Given the description of an element on the screen output the (x, y) to click on. 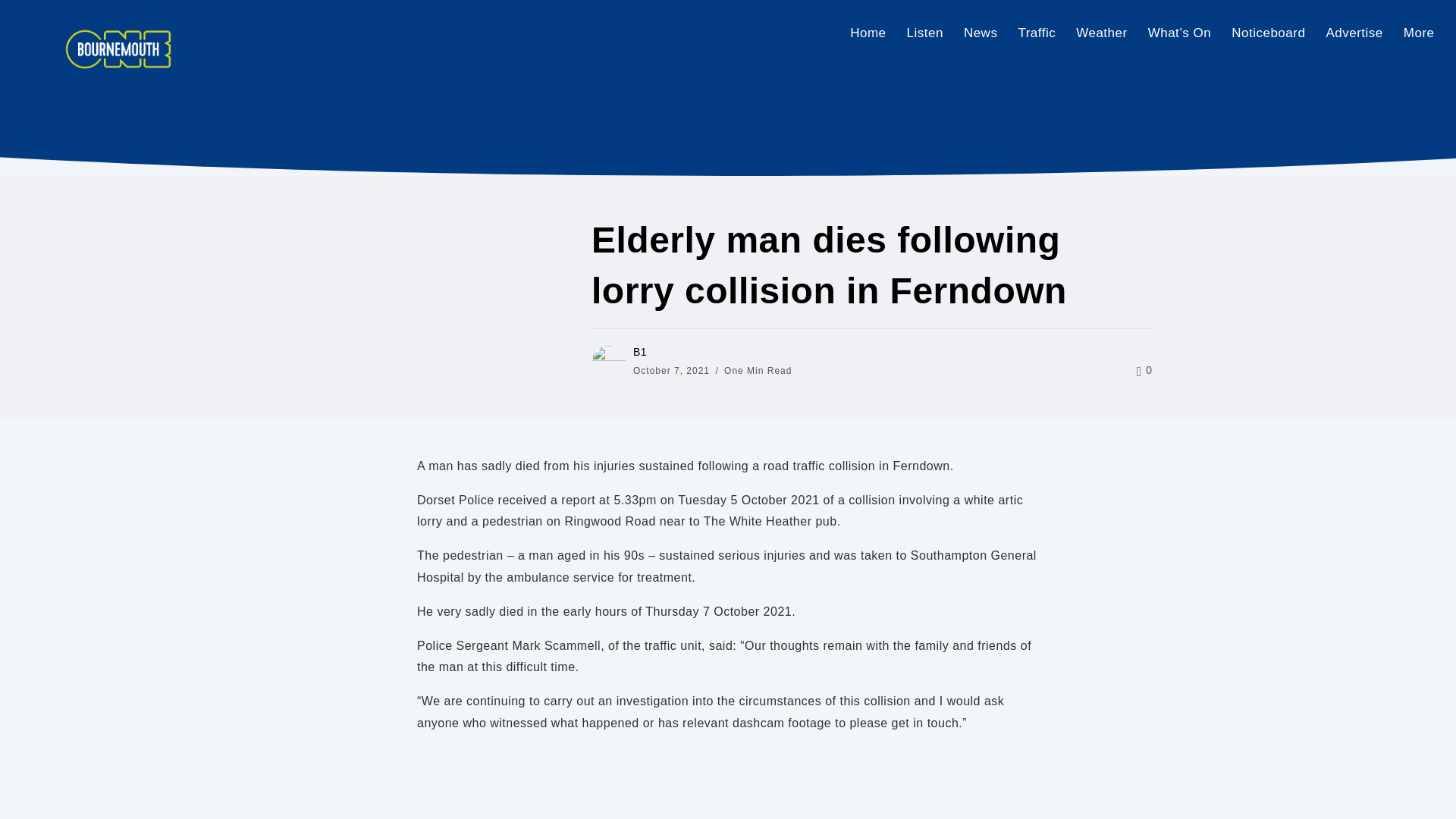
Advertise (1354, 32)
Listen (924, 32)
Weather (1102, 32)
0 (1145, 369)
Traffic (1036, 32)
Home (868, 32)
More (1418, 32)
B1 (639, 351)
News (980, 32)
Noticeboard (1268, 32)
